Given the description of an element on the screen output the (x, y) to click on. 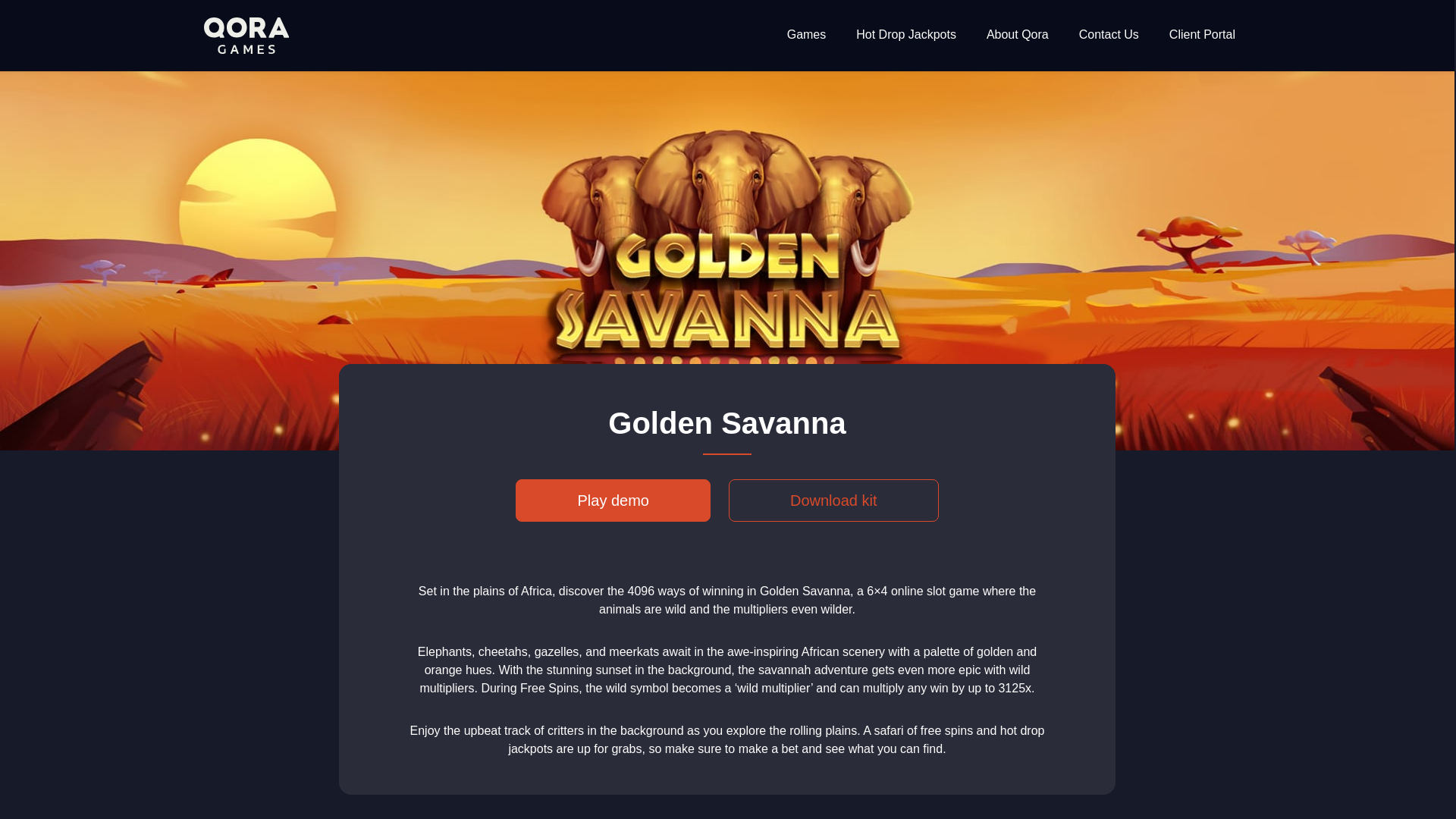
Contact Us (1108, 34)
Play demo (612, 500)
Hot Drop Jackpots (906, 34)
About Qora (1017, 34)
Client Portal (1201, 34)
Games (807, 34)
